Given the description of an element on the screen output the (x, y) to click on. 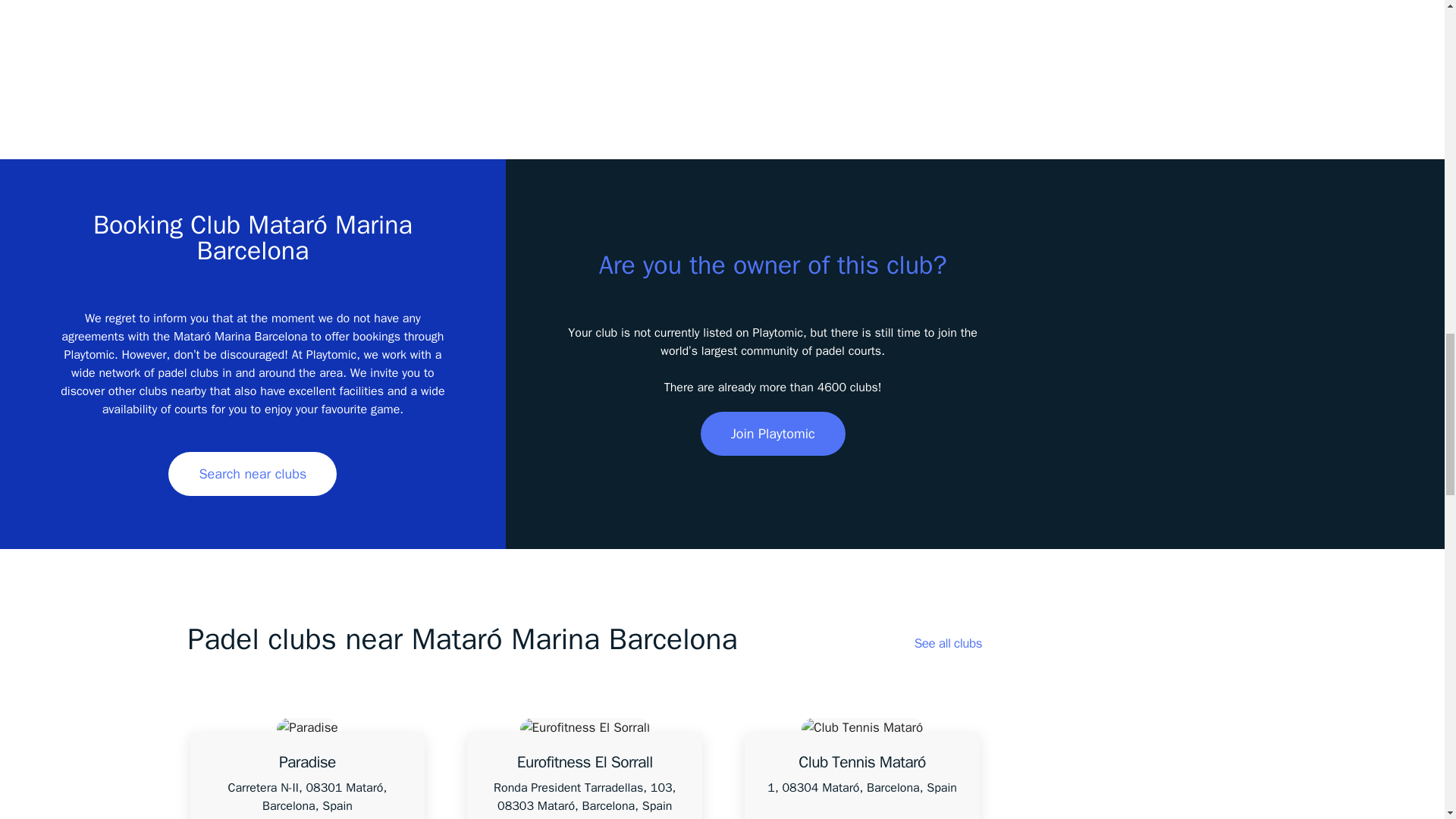
See all clubs (947, 643)
Join Playtomic (772, 433)
Search near clubs (252, 474)
